Given the description of an element on the screen output the (x, y) to click on. 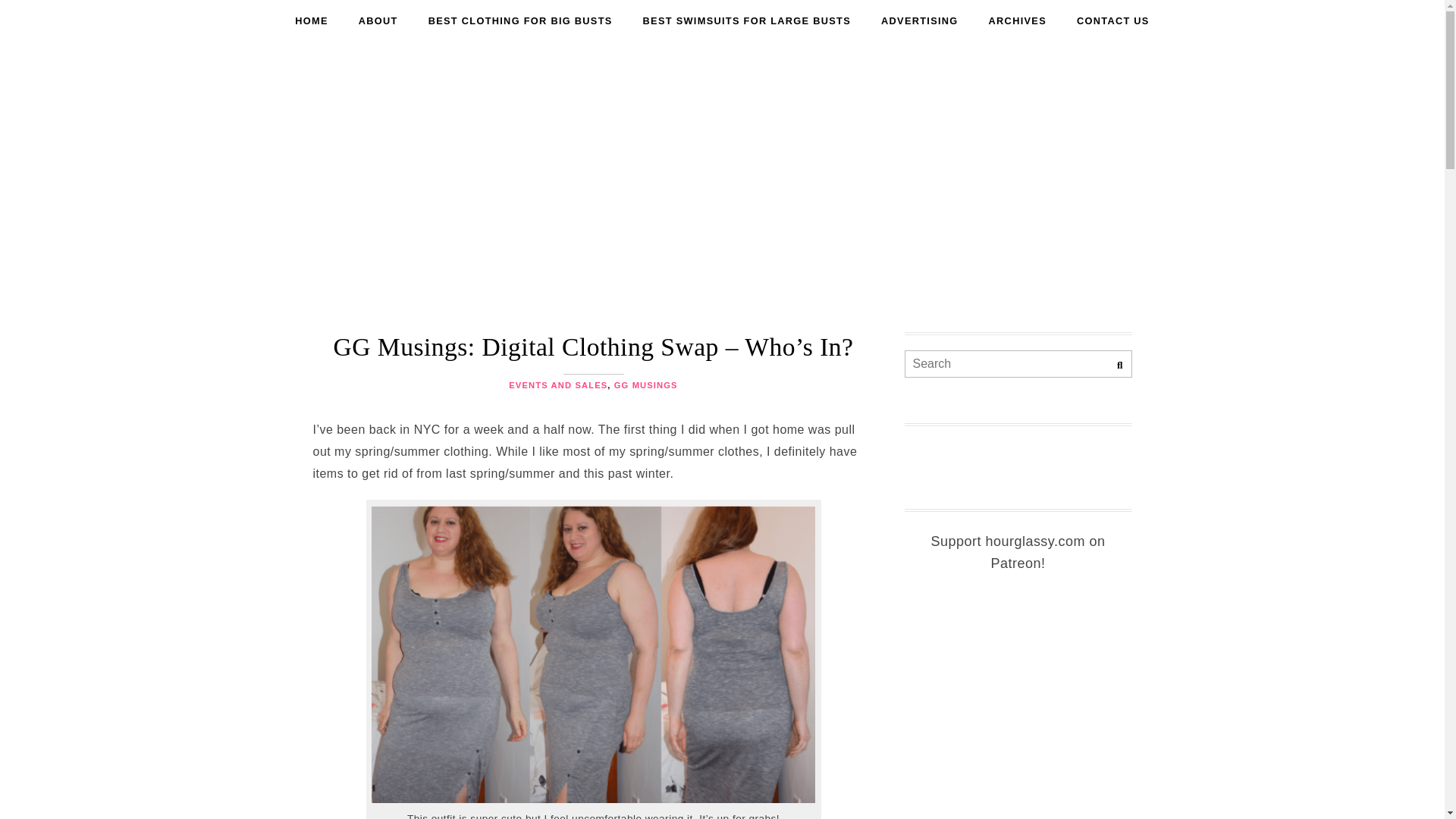
CONTACT US (1112, 21)
ADVERTISING (920, 21)
ARCHIVES (1017, 21)
BEST SWIMSUITS FOR LARGE BUSTS (746, 21)
GG MUSINGS (646, 384)
BEST CLOTHING FOR BIG BUSTS (520, 21)
HOME (311, 21)
ABOUT (378, 21)
EVENTS AND SALES (557, 384)
